Given the description of an element on the screen output the (x, y) to click on. 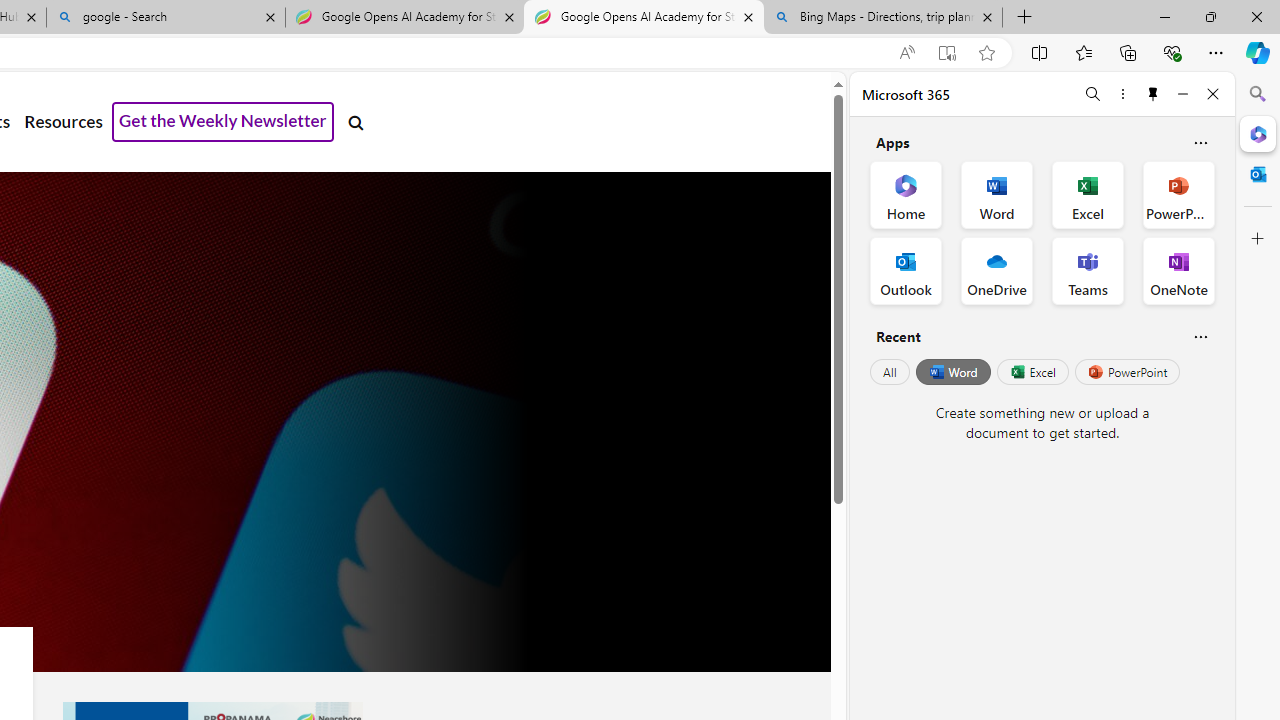
Word (952, 372)
Read aloud this page (Ctrl+Shift+U) (906, 53)
Unpin side pane (1153, 93)
Word Office App (996, 194)
Minimize (1182, 93)
Outlook Office App (906, 270)
Copilot (Ctrl+Shift+.) (1258, 52)
All (890, 372)
Resources (63, 121)
Teams Office App (1087, 270)
Excel Office App (1087, 194)
Get the Weekly Newsletter (223, 121)
Browser essentials (1171, 52)
Split screen (1039, 52)
